Given the description of an element on the screen output the (x, y) to click on. 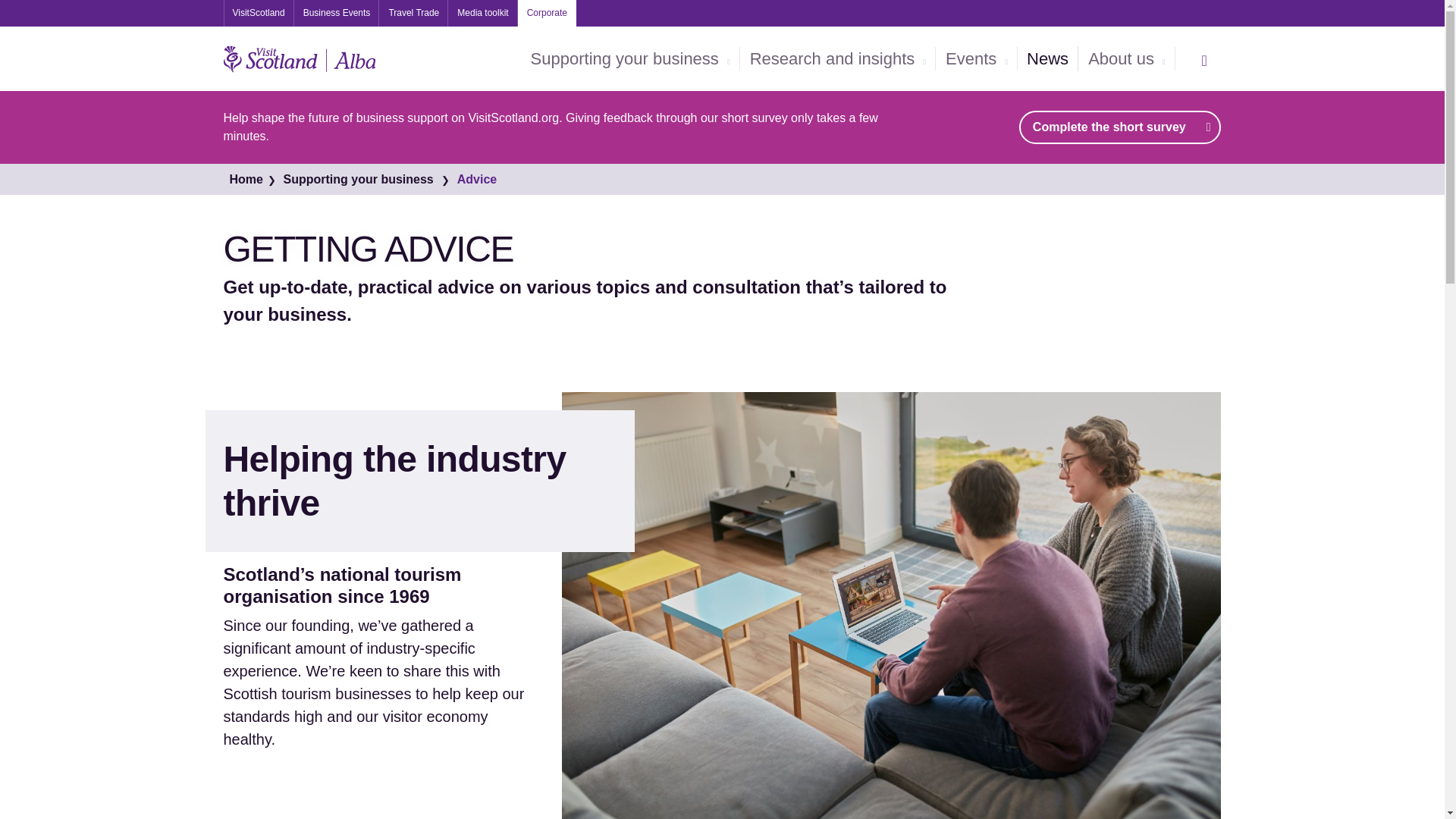
Corporate (547, 13)
Business Events (337, 13)
Travel Trade (413, 13)
VisitScotland (258, 13)
Supporting your business (630, 58)
Media toolkit (482, 13)
